Given the description of an element on the screen output the (x, y) to click on. 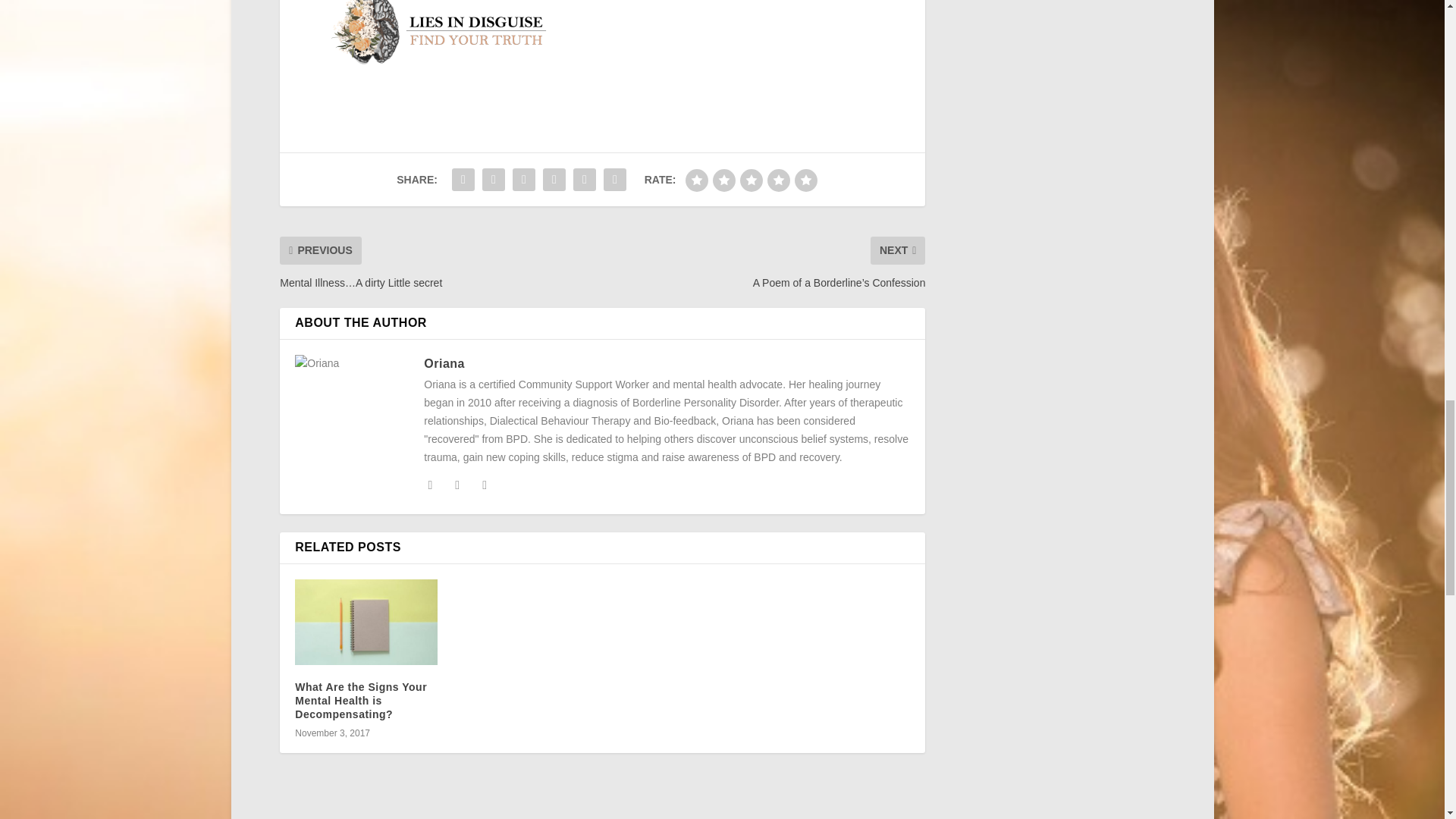
Oriana (443, 363)
Share "Mental Health Myth Buster" via Pinterest (584, 179)
regular (750, 179)
poor (724, 179)
good (778, 179)
Share "Mental Health Myth Buster" via Facebook (463, 179)
What Are the Signs Your Mental Health is Decompensating? (360, 700)
Share "Mental Health Myth Buster" via Tumblr (553, 179)
bad (696, 179)
Share "Mental Health Myth Buster" via Twitter (493, 179)
Share "Mental Health Myth Buster" via Email (614, 179)
